Given the description of an element on the screen output the (x, y) to click on. 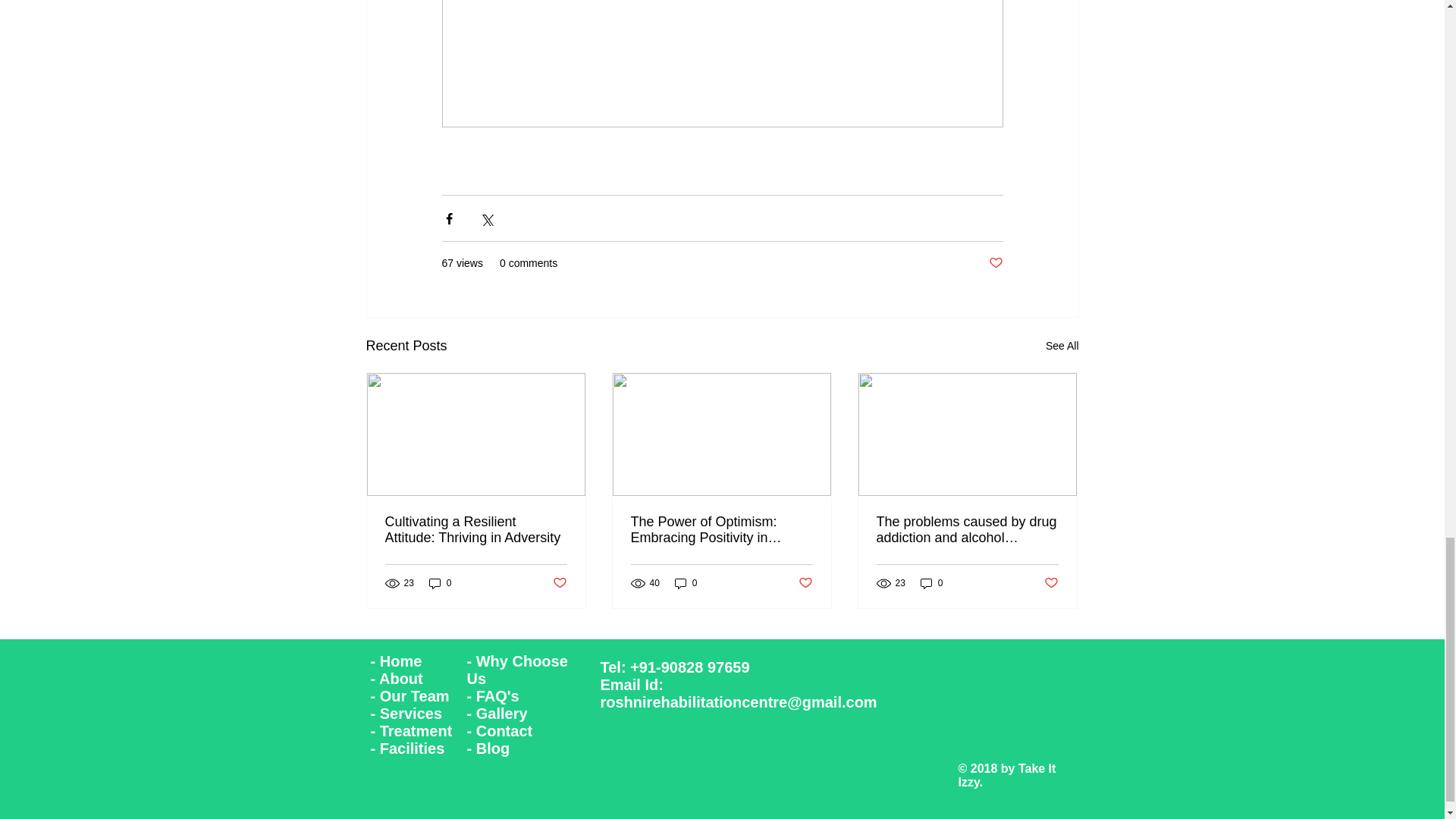
Cultivating a Resilient Attitude: Thriving in Adversity (476, 530)
Post not marked as liked (558, 582)
Post not marked as liked (995, 263)
0 (440, 583)
See All (1061, 345)
